Given the description of an element on the screen output the (x, y) to click on. 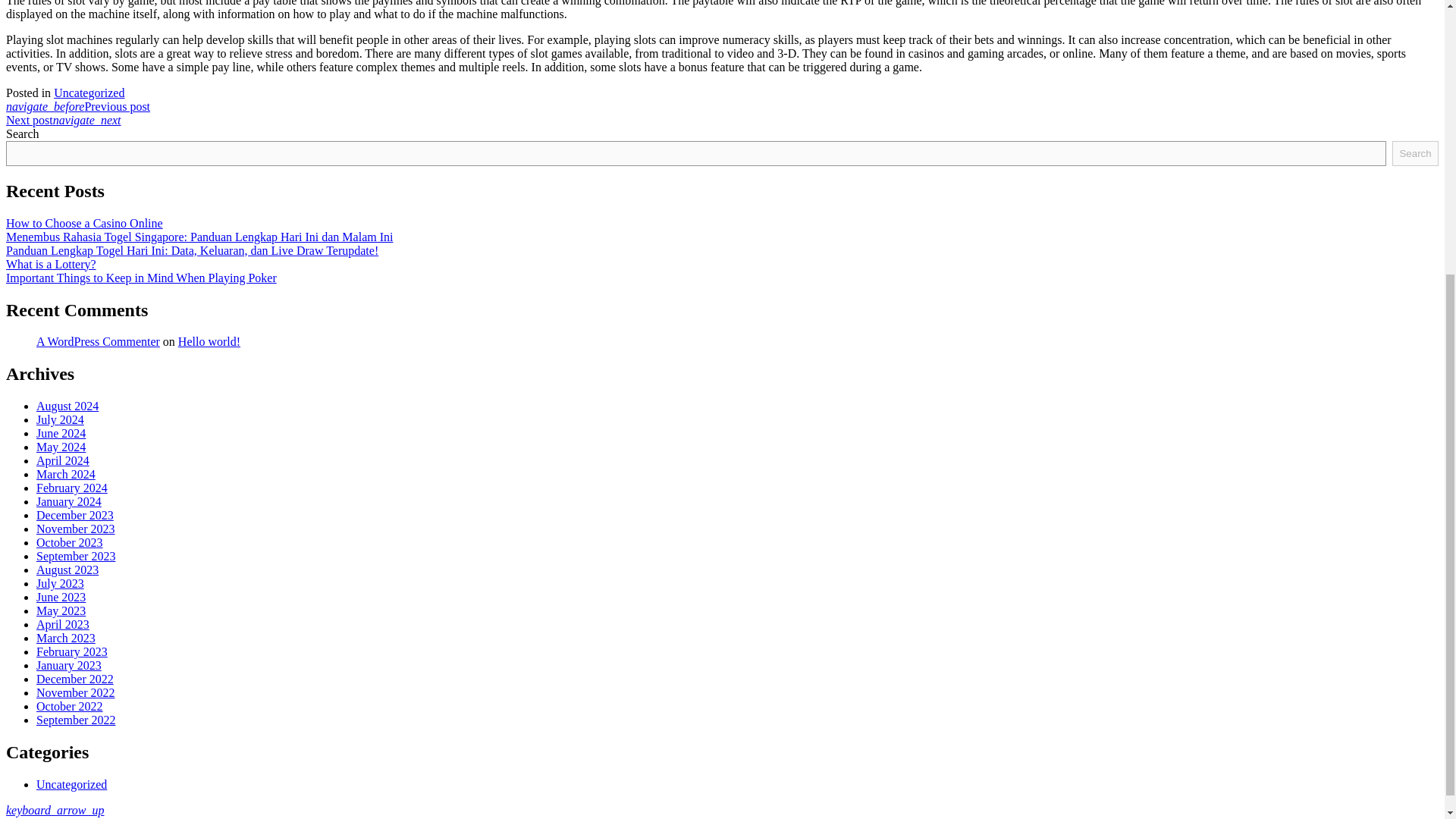
Uncategorized (88, 92)
What is a Lottery? (50, 264)
July 2023 (60, 583)
January 2024 (68, 501)
May 2023 (60, 610)
March 2024 (66, 473)
Important Things to Keep in Mind When Playing Poker (140, 277)
April 2023 (62, 624)
A WordPress Commenter (98, 341)
